Given the description of an element on the screen output the (x, y) to click on. 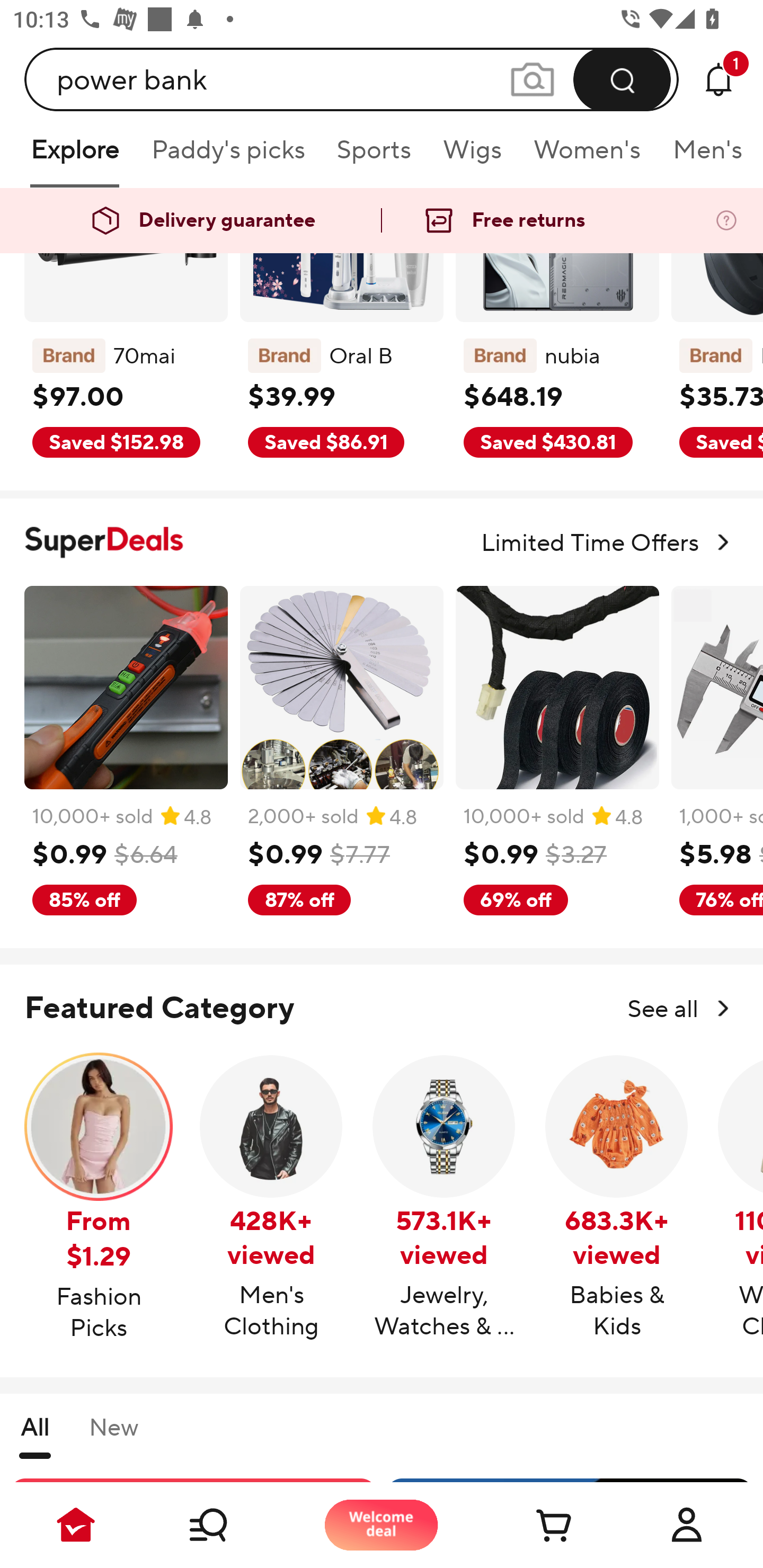
power bank (351, 79)
Paddy's picks (227, 155)
Sports (373, 155)
Wigs (472, 155)
Women's (586, 155)
Men's (701, 155)
From $1.29 Fashion Picks (98, 1198)
428K+ viewed Men's Clothing (270, 1197)
573.1K+ viewed Jewelry, Watches & Accessories (444, 1197)
683.3K+ viewed Babies & Kids (616, 1197)
New (113, 1435)
Shop (228, 1524)
Cart (533, 1524)
Account (686, 1524)
